Given the description of an element on the screen output the (x, y) to click on. 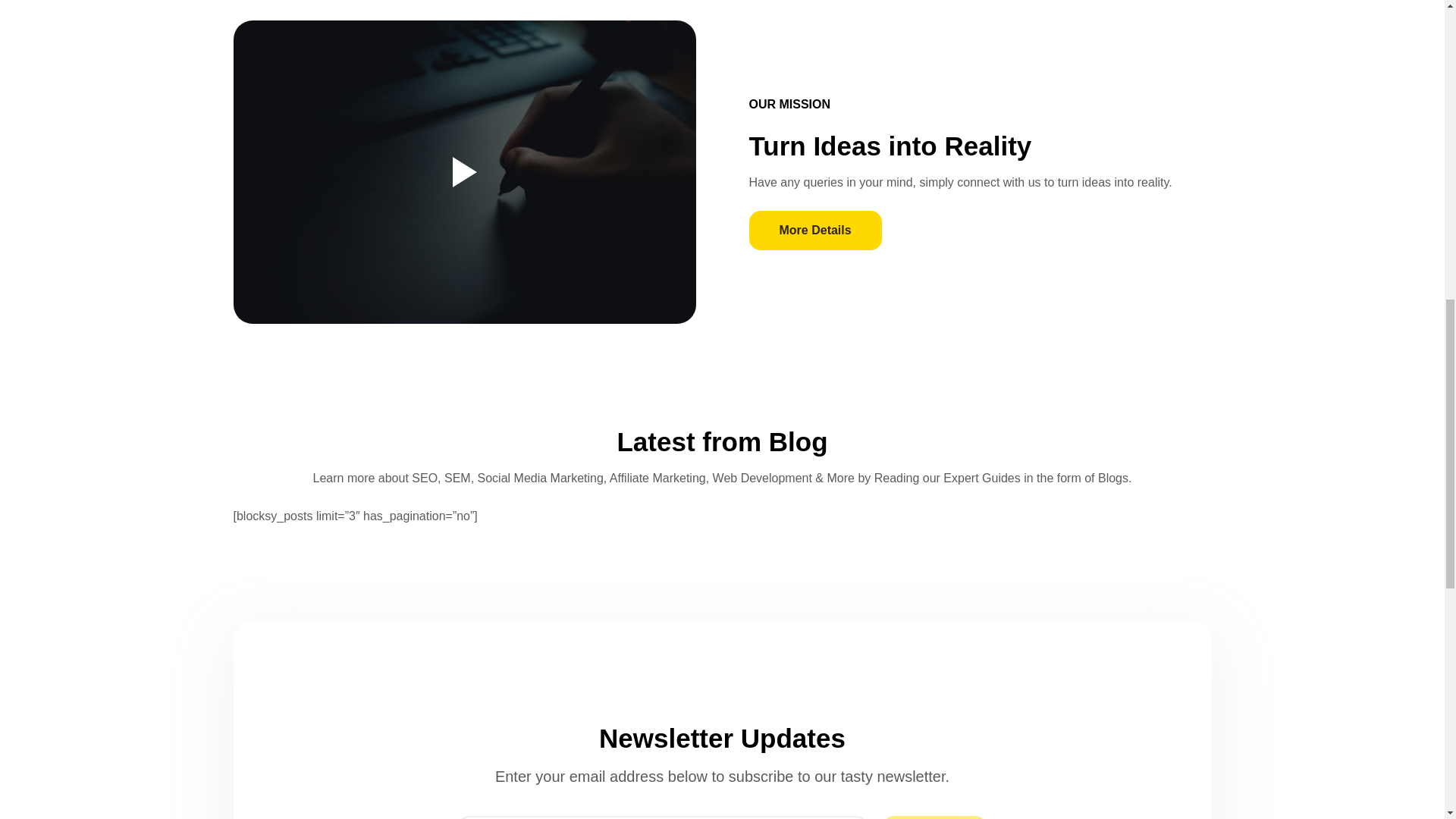
Subscribe (934, 817)
More Details (815, 230)
